Given the description of an element on the screen output the (x, y) to click on. 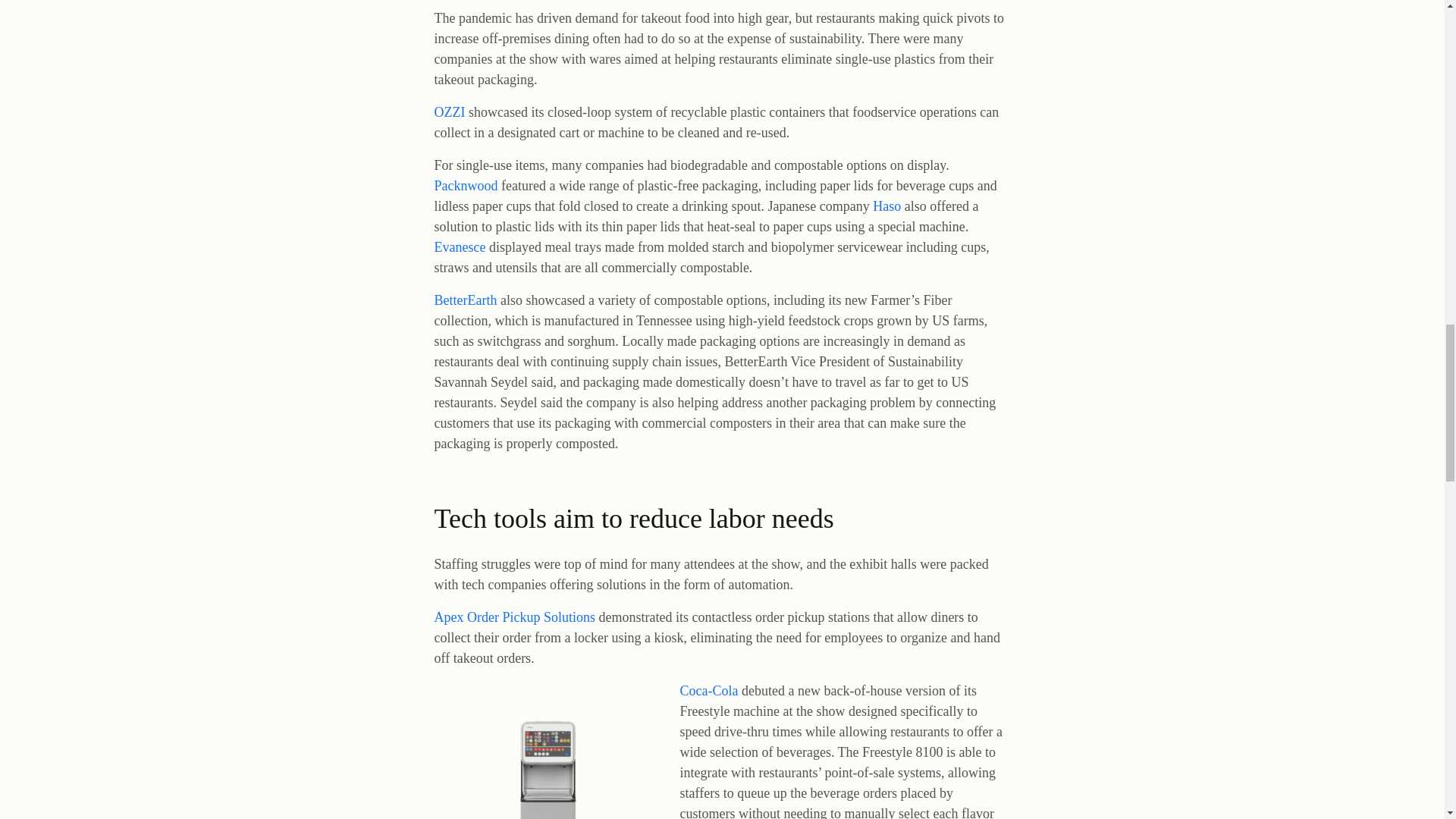
OZZI (448, 111)
Packnwood (465, 185)
